Given the description of an element on the screen output the (x, y) to click on. 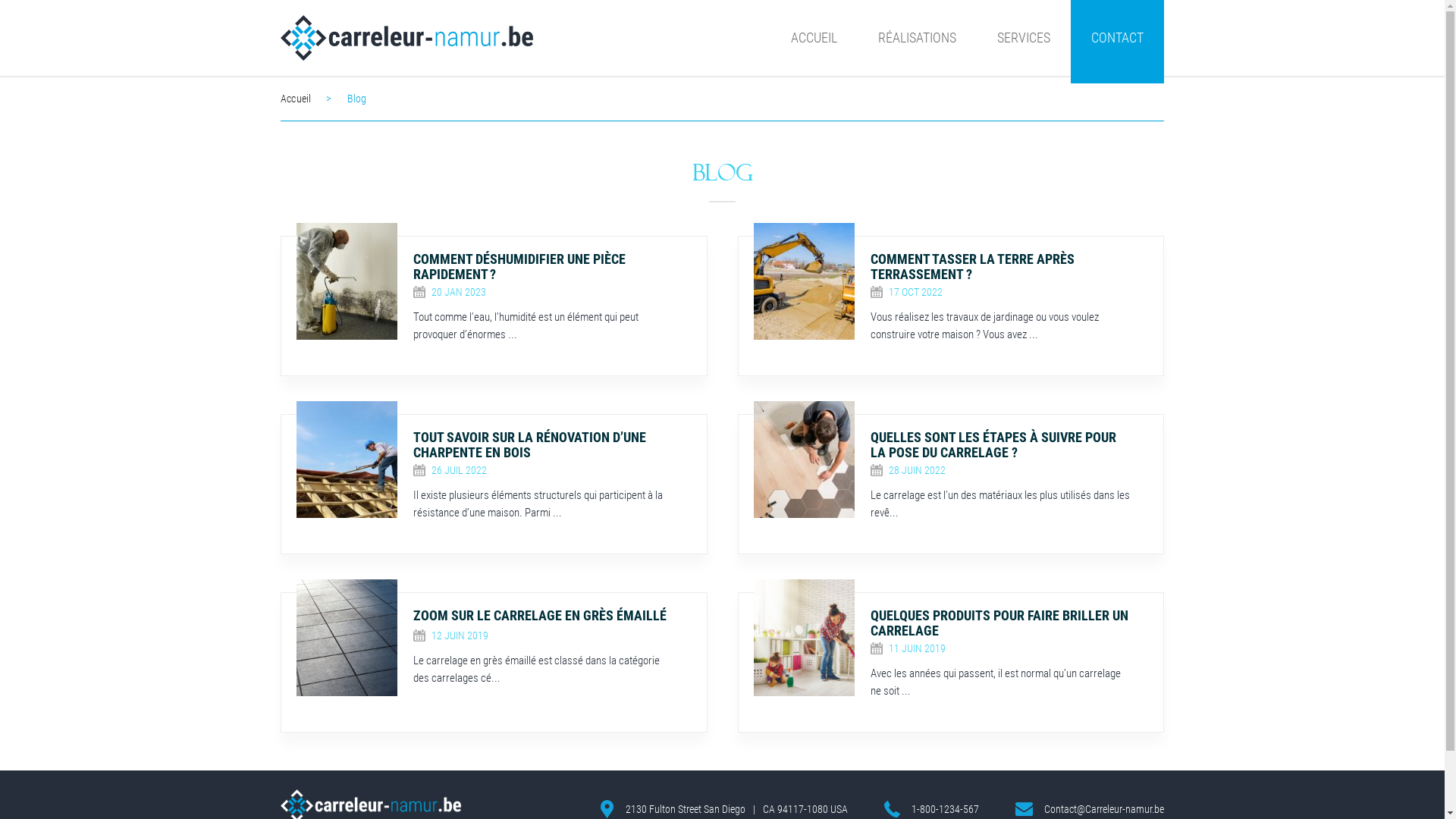
CONTACT Element type: text (1117, 37)
1-800-1234-567 Element type: text (945, 809)
carrelage-namur Element type: hover (406, 37)
ACCUEIL Element type: text (813, 37)
SERVICES Element type: text (1023, 37)
Contact@Carreleur-namur.be Element type: text (1104, 809)
QUELQUES PRODUITS POUR FAIRE BRILLER UN CARRELAGE Element type: text (1001, 623)
Accueil Element type: text (313, 98)
